Given the description of an element on the screen output the (x, y) to click on. 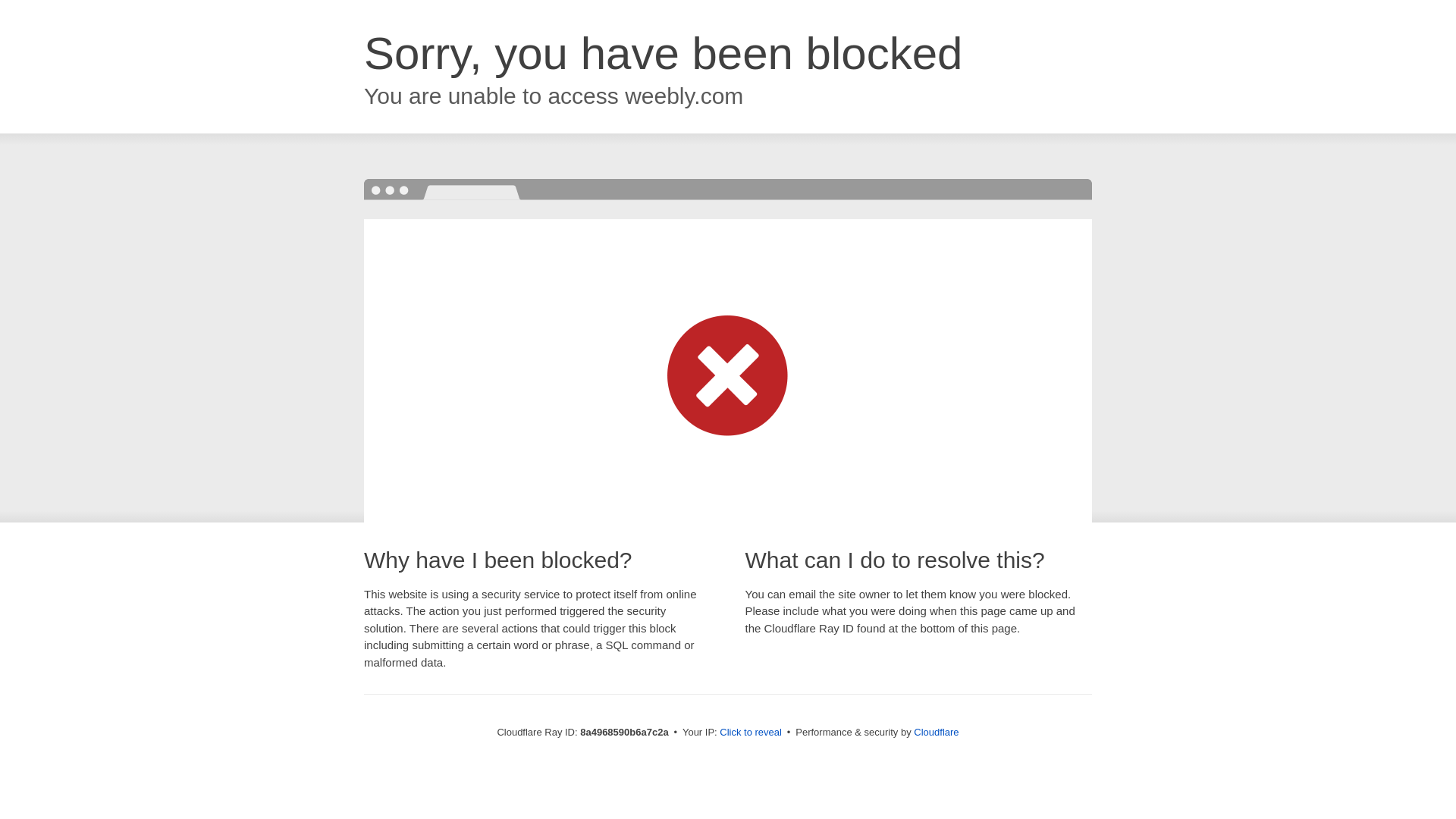
Cloudflare (936, 731)
Click to reveal (750, 732)
